Given the description of an element on the screen output the (x, y) to click on. 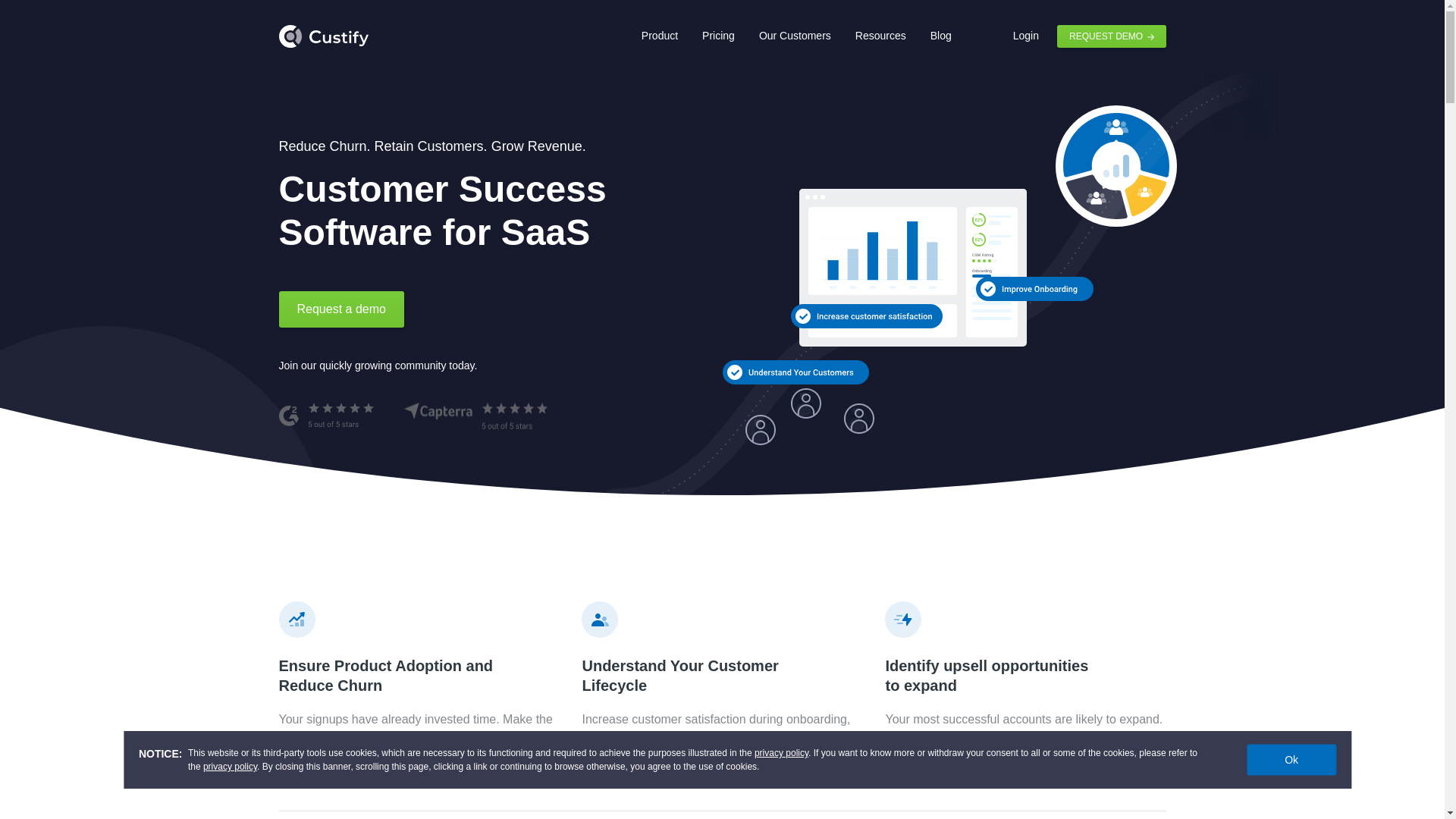
REQUEST DEMO (1111, 36)
Custify logo (323, 36)
Request a demo (341, 309)
Our Customers (794, 36)
Resources (880, 36)
